Given the description of an element on the screen output the (x, y) to click on. 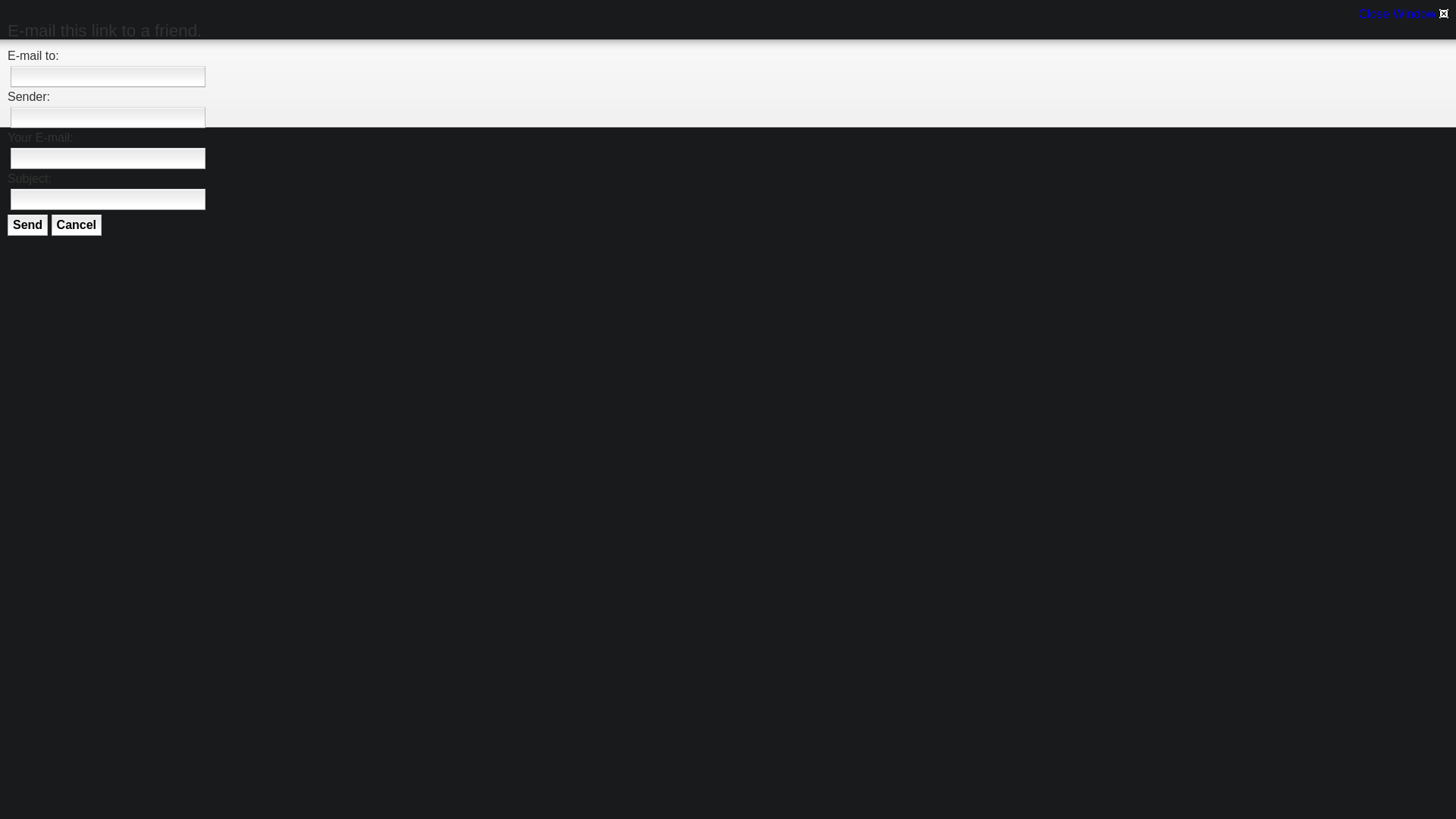
Send Element type: text (27, 224)
Cancel Element type: text (76, 224)
Close Window Element type: text (1403, 13)
